Given the description of an element on the screen output the (x, y) to click on. 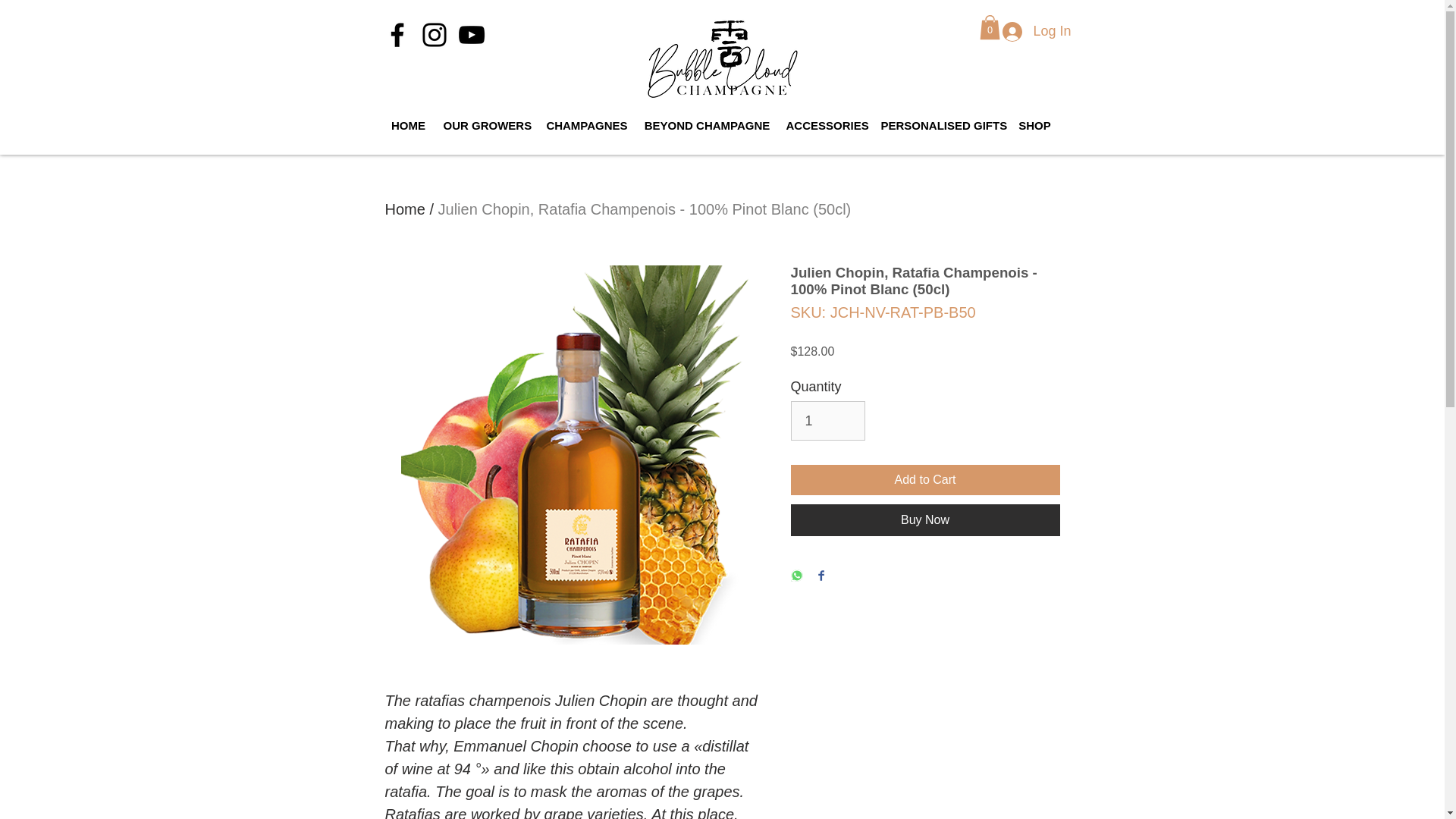
BEYOND CHAMPAGNE (705, 125)
HOME (407, 125)
OUR GROWERS (486, 125)
Add to Cart (924, 480)
Home (405, 208)
CHAMPAGNES (587, 125)
PERSONALISED GIFTS (941, 125)
SHOP (1034, 125)
1 (827, 420)
Buy Now (924, 520)
